Given the description of an element on the screen output the (x, y) to click on. 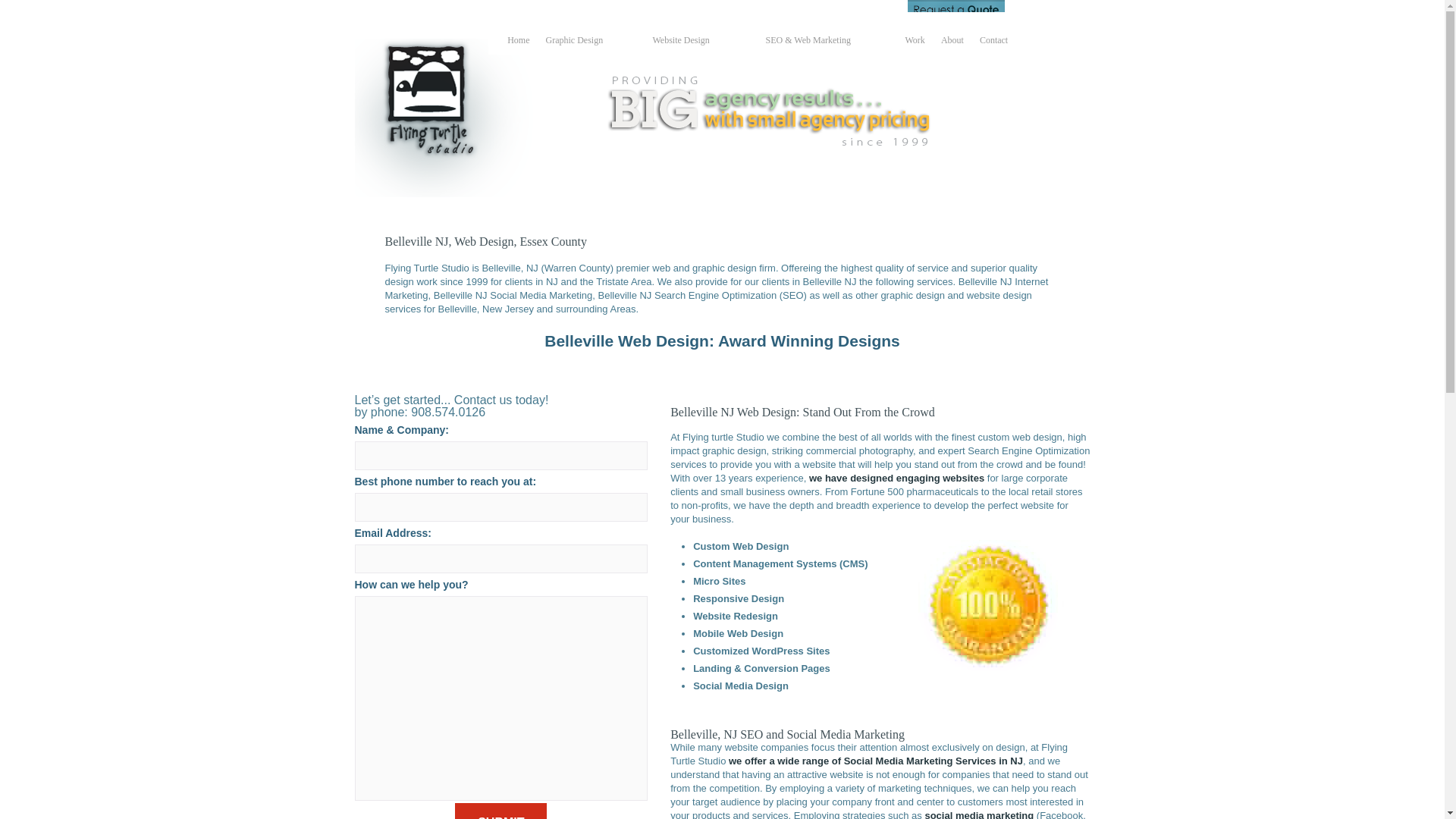
Home (518, 41)
About Flying Turtle Studio (952, 41)
Website Design (695, 41)
SUBMIT (500, 811)
Contact (993, 41)
SUBMIT (500, 811)
About (952, 41)
Work (915, 41)
Graphic Design (585, 41)
